Given the description of an element on the screen output the (x, y) to click on. 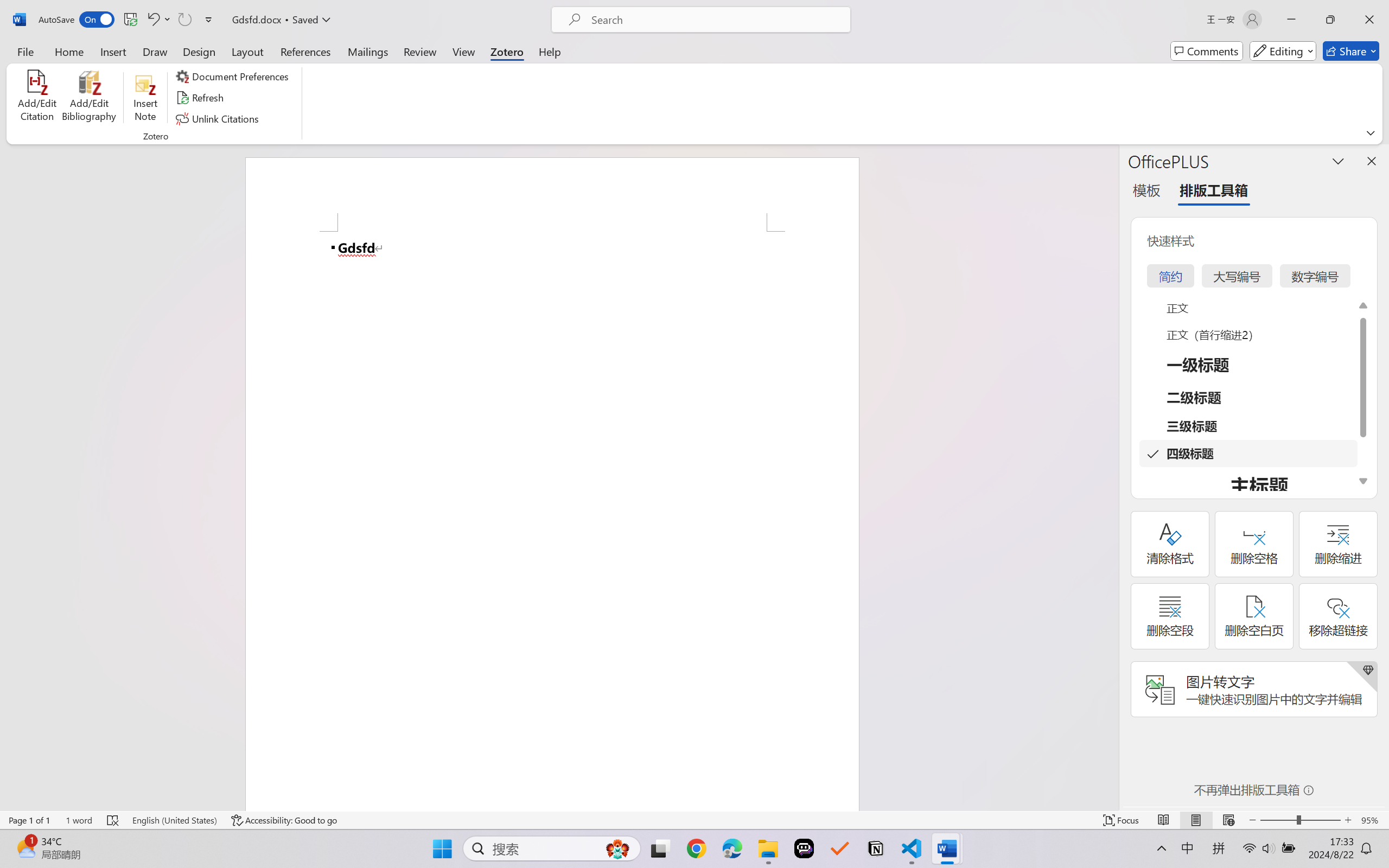
Add/Edit Bibliography (88, 97)
Page 1 content (552, 520)
